Given the description of an element on the screen output the (x, y) to click on. 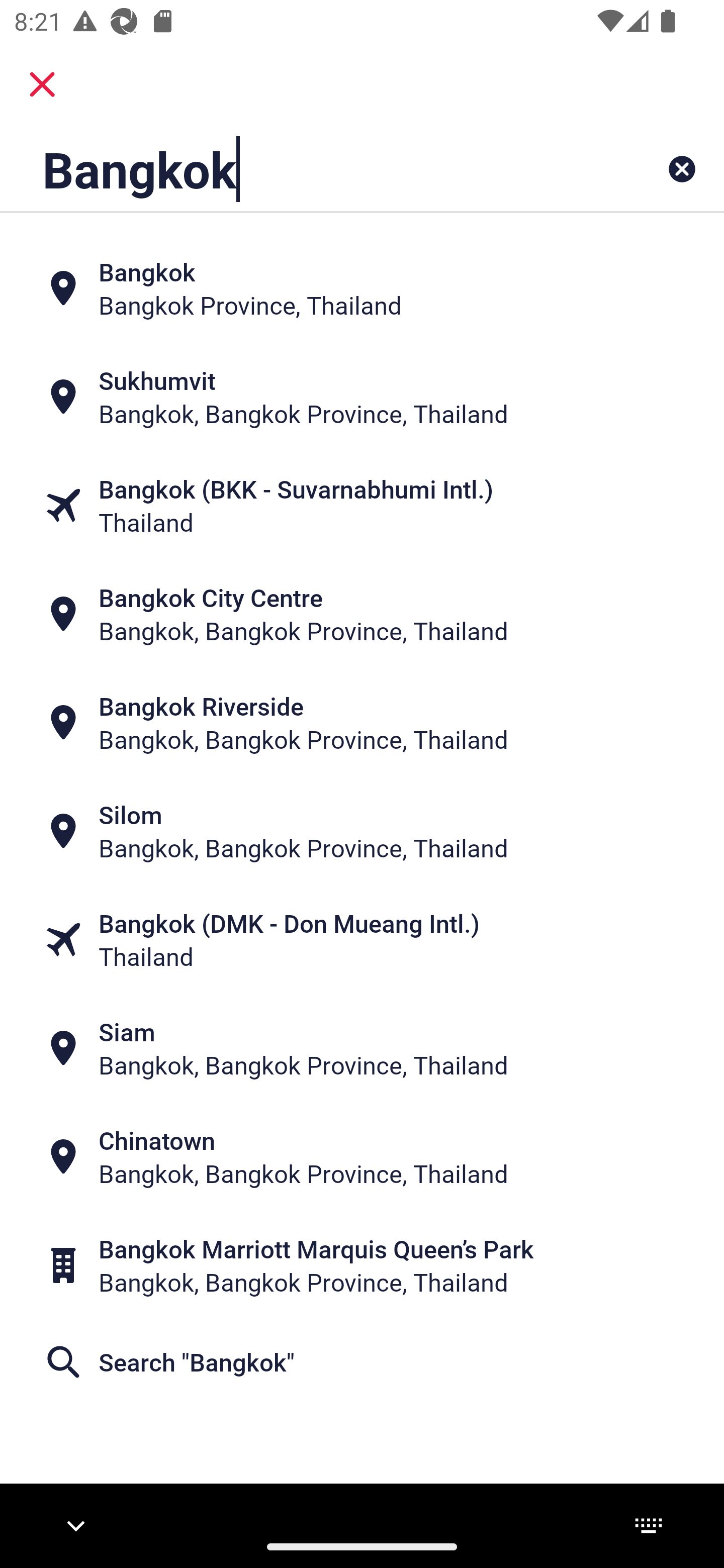
close. (42, 84)
Clear (681, 169)
Bangkok (298, 169)
Bangkok Bangkok Province, Thailand (362, 288)
Sukhumvit Bangkok, Bangkok Province, Thailand (362, 397)
Bangkok (BKK - Suvarnabhumi Intl.) Thailand (362, 505)
Silom Bangkok, Bangkok Province, Thailand (362, 831)
Bangkok (DMK - Don Mueang Intl.) Thailand (362, 939)
Siam Bangkok, Bangkok Province, Thailand (362, 1048)
Chinatown Bangkok, Bangkok Province, Thailand (362, 1156)
Search "Bangkok" (362, 1362)
